Given the description of an element on the screen output the (x, y) to click on. 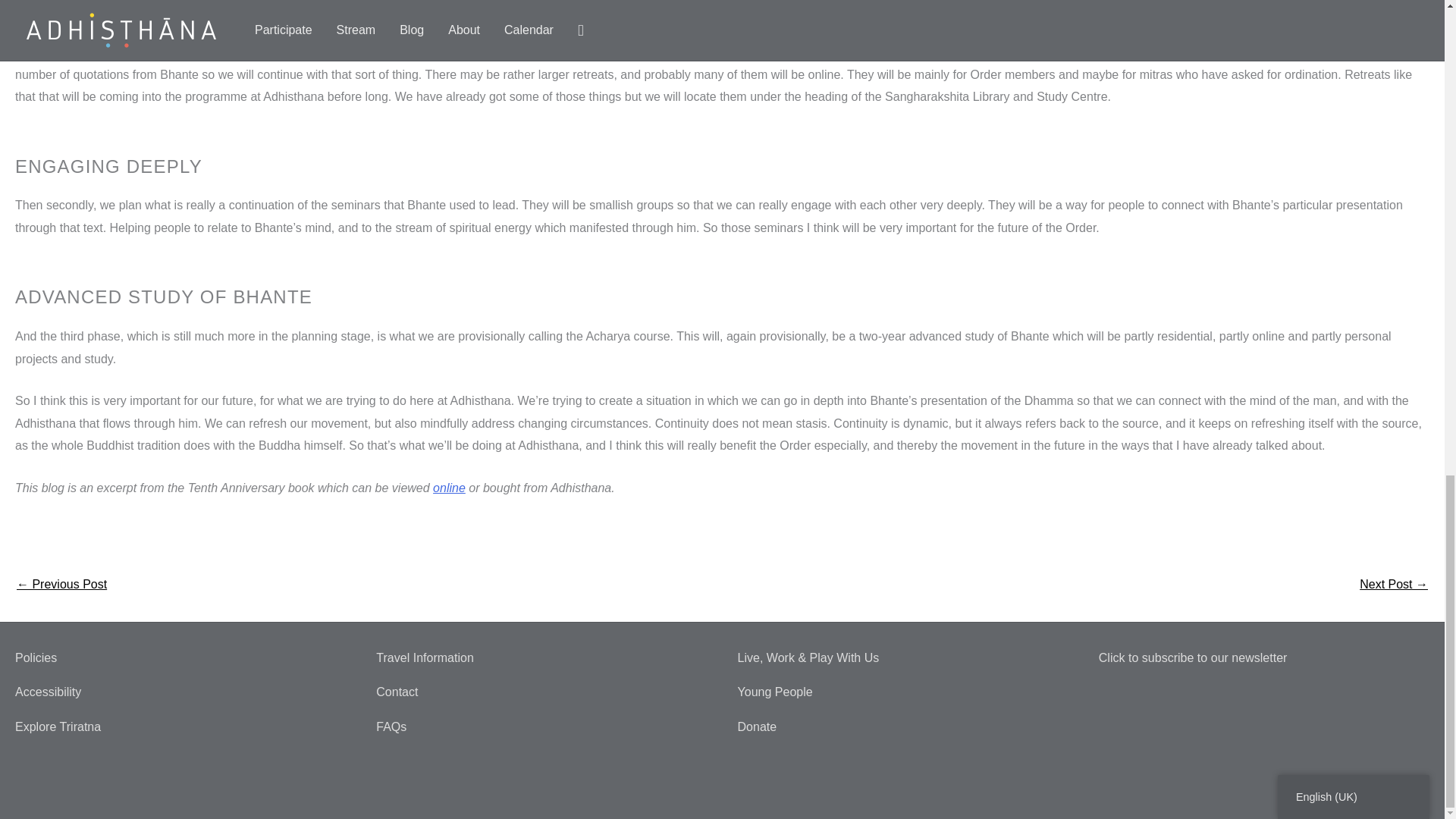
Travel Information (424, 657)
Donate (756, 726)
Click to subscribe to our newsletter (1193, 657)
Accessibility (47, 691)
Policies (35, 657)
online (448, 487)
At Home Days for the Adhisthana Community (61, 584)
The First National UK People of Colour Retreat (1393, 584)
Contact (396, 691)
Young People (774, 691)
